Given the description of an element on the screen output the (x, y) to click on. 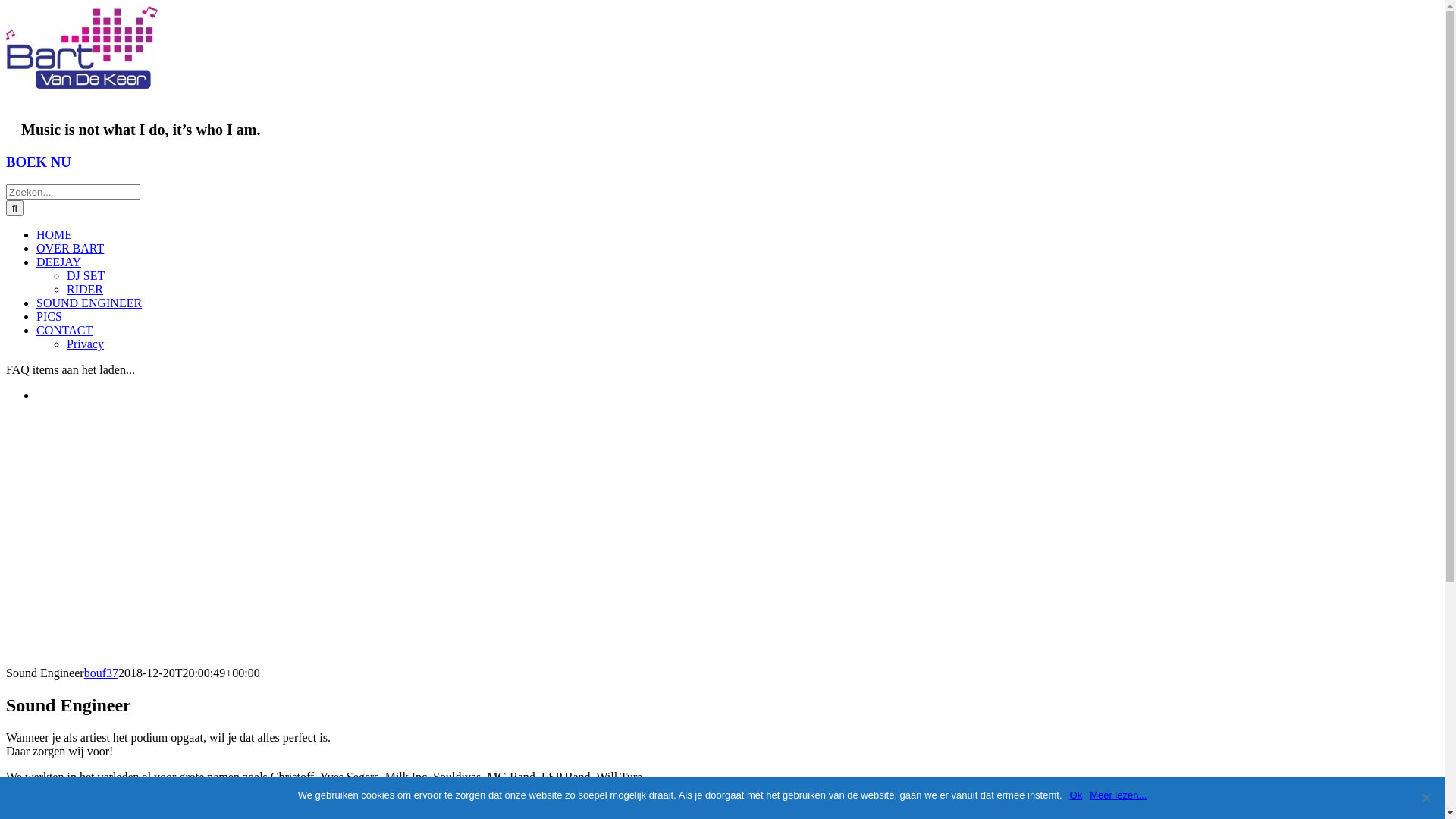
PICS Element type: text (49, 316)
DEEJAY Element type: text (58, 261)
SOUND ENGINEER Element type: text (88, 302)
BOEK NU Element type: text (38, 161)
No Element type: hover (1425, 797)
RIDER Element type: text (84, 288)
Meer lezen... Element type: text (1117, 795)
DJ SET Element type: text (85, 275)
OVER BART Element type: text (69, 247)
Skip to content Element type: text (5, 5)
bouf37 Element type: text (101, 672)
Privacy Element type: text (84, 343)
HOME Element type: text (54, 234)
Ok Element type: text (1076, 795)
CONTACT Element type: text (64, 329)
